Given the description of an element on the screen output the (x, y) to click on. 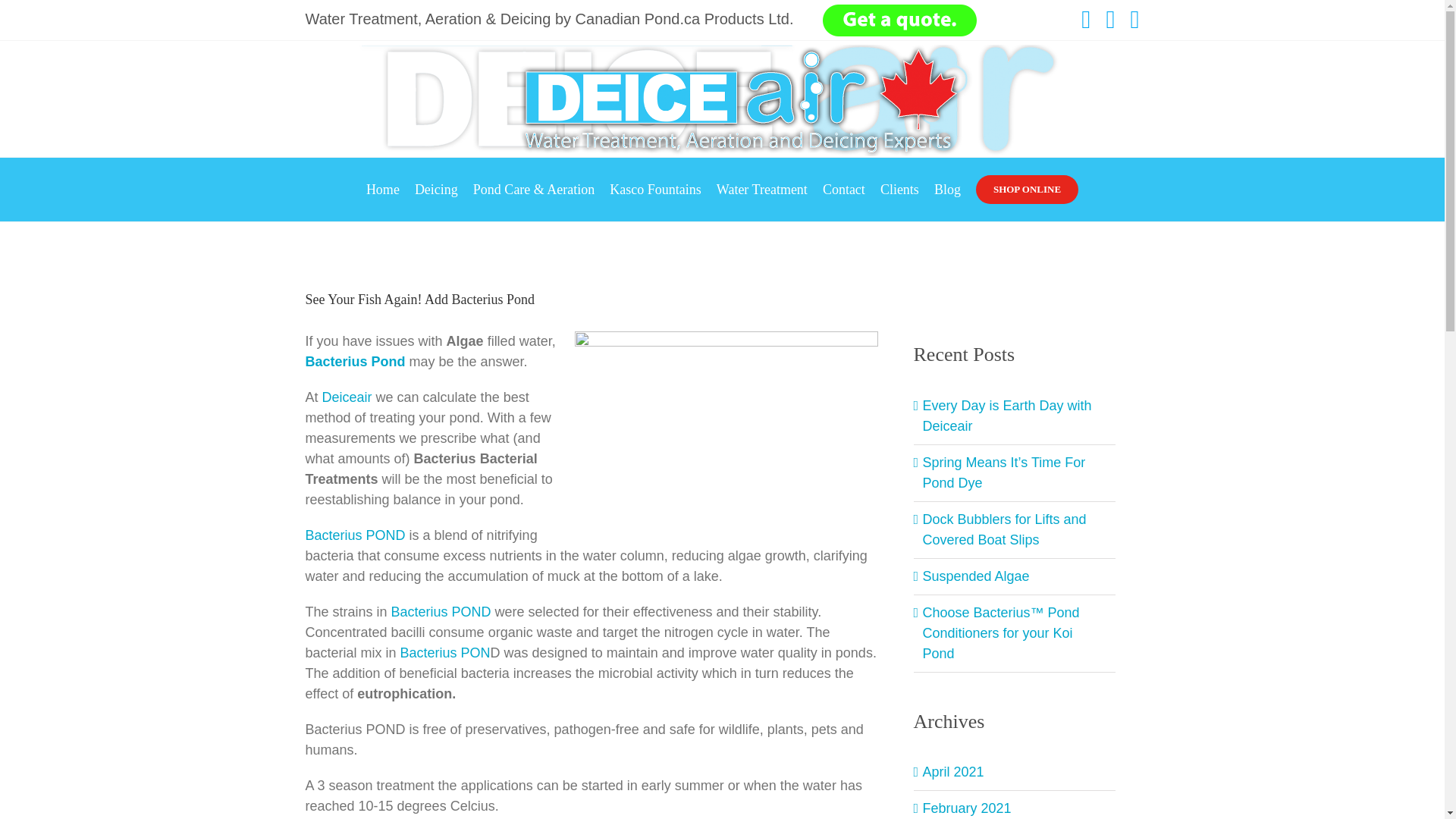
Bacterius POND (441, 611)
SHOP ONLINE (1026, 189)
Bacterius PON (445, 652)
Bacterius POND (354, 534)
Bacterius Pond (354, 361)
Kasco Fountains (655, 189)
Deiceair (346, 396)
Water Treatment (762, 189)
